Given the description of an element on the screen output the (x, y) to click on. 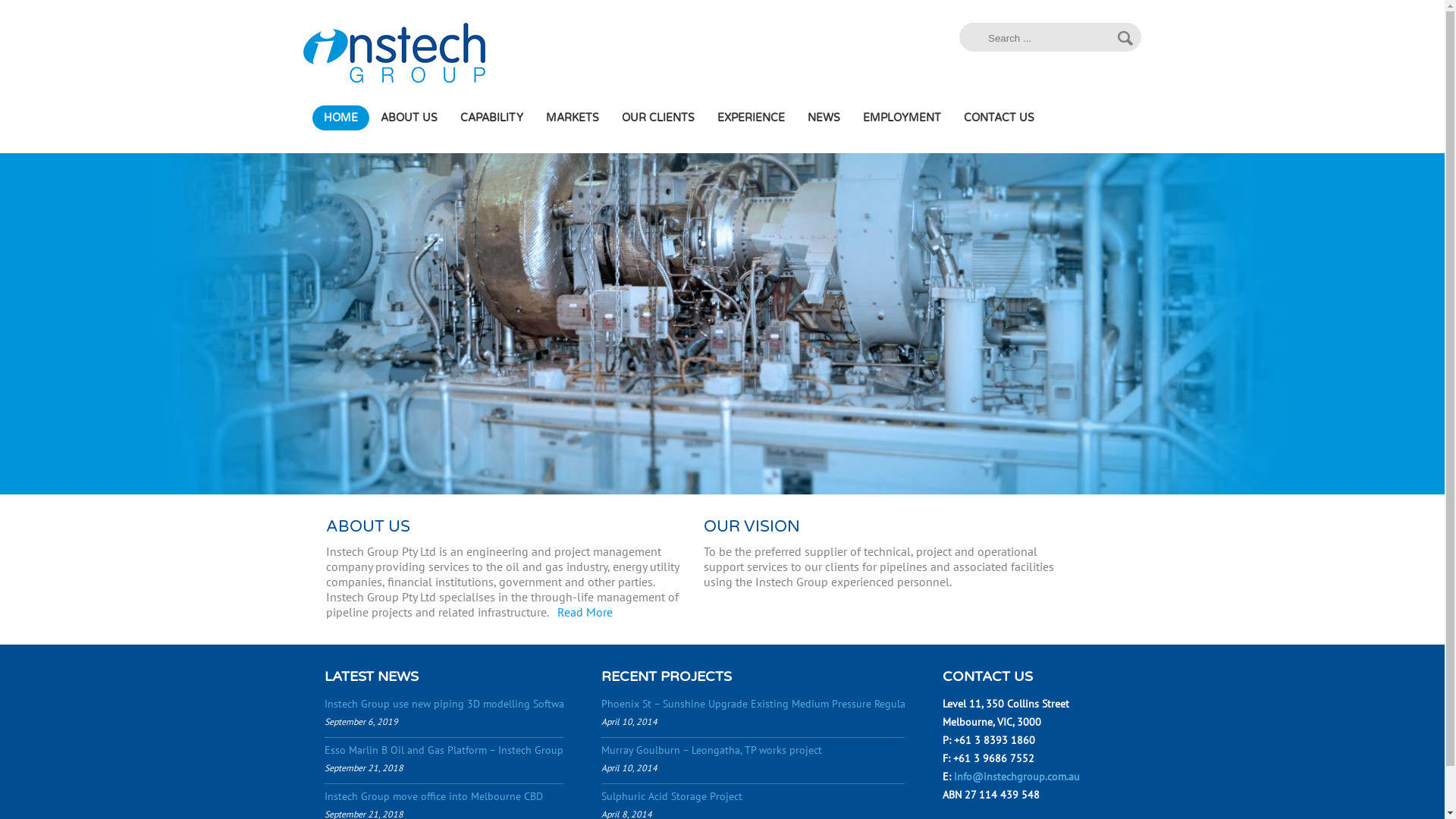
info@instechgroup.com.au Element type: text (1016, 776)
HOME Element type: text (340, 117)
Instech Group use new piping 3D modelling Software Element type: text (448, 703)
EMPLOYMENT Element type: text (901, 117)
CAPABILITY Element type: text (491, 117)
OUR CLIENTS Element type: text (658, 117)
NEWS Element type: text (823, 117)
EXPERIENCE Element type: text (750, 117)
Search Element type: text (1124, 38)
Read More Element type: text (584, 611)
ABOUT US Element type: text (409, 117)
CONTACT US Element type: text (998, 117)
MARKETS Element type: text (572, 117)
Instech Group move office into Melbourne CBD Element type: text (433, 796)
Sulphuric Acid Storage Project Element type: text (671, 796)
